Given the description of an element on the screen output the (x, y) to click on. 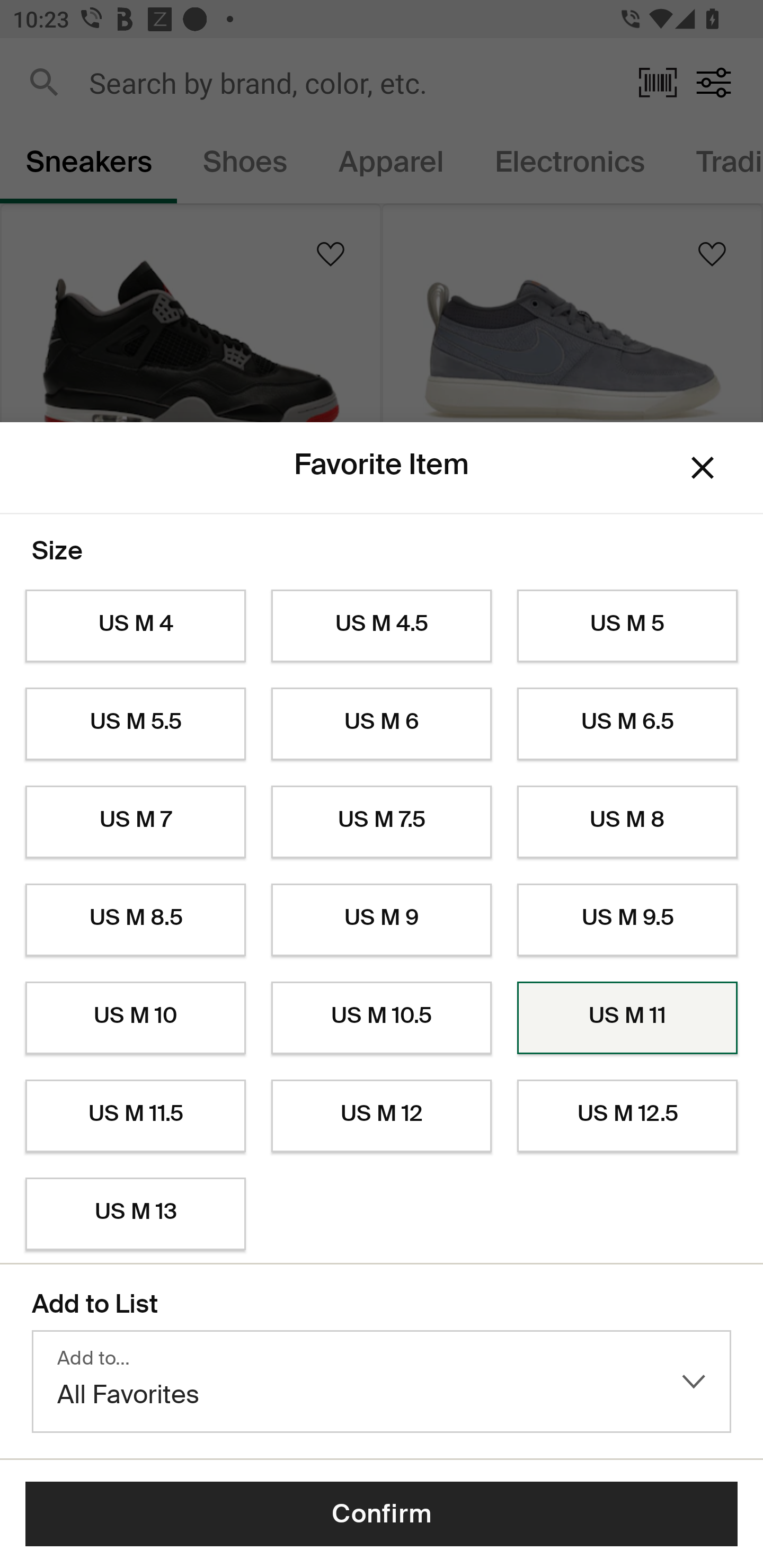
Dismiss (702, 467)
US M 4 (135, 626)
US M 4.5 (381, 626)
US M 5 (627, 626)
US M 5.5 (135, 724)
US M 6 (381, 724)
US M 6.5 (627, 724)
US M 7 (135, 822)
US M 7.5 (381, 822)
US M 8 (627, 822)
US M 8.5 (135, 919)
US M 9 (381, 919)
US M 9.5 (627, 919)
US M 10 (135, 1018)
US M 10.5 (381, 1018)
US M 11 (627, 1018)
US M 11.5 (135, 1116)
US M 12 (381, 1116)
US M 12.5 (627, 1116)
US M 13 (135, 1214)
Add to… All Favorites (381, 1381)
Confirm (381, 1513)
